Given the description of an element on the screen output the (x, y) to click on. 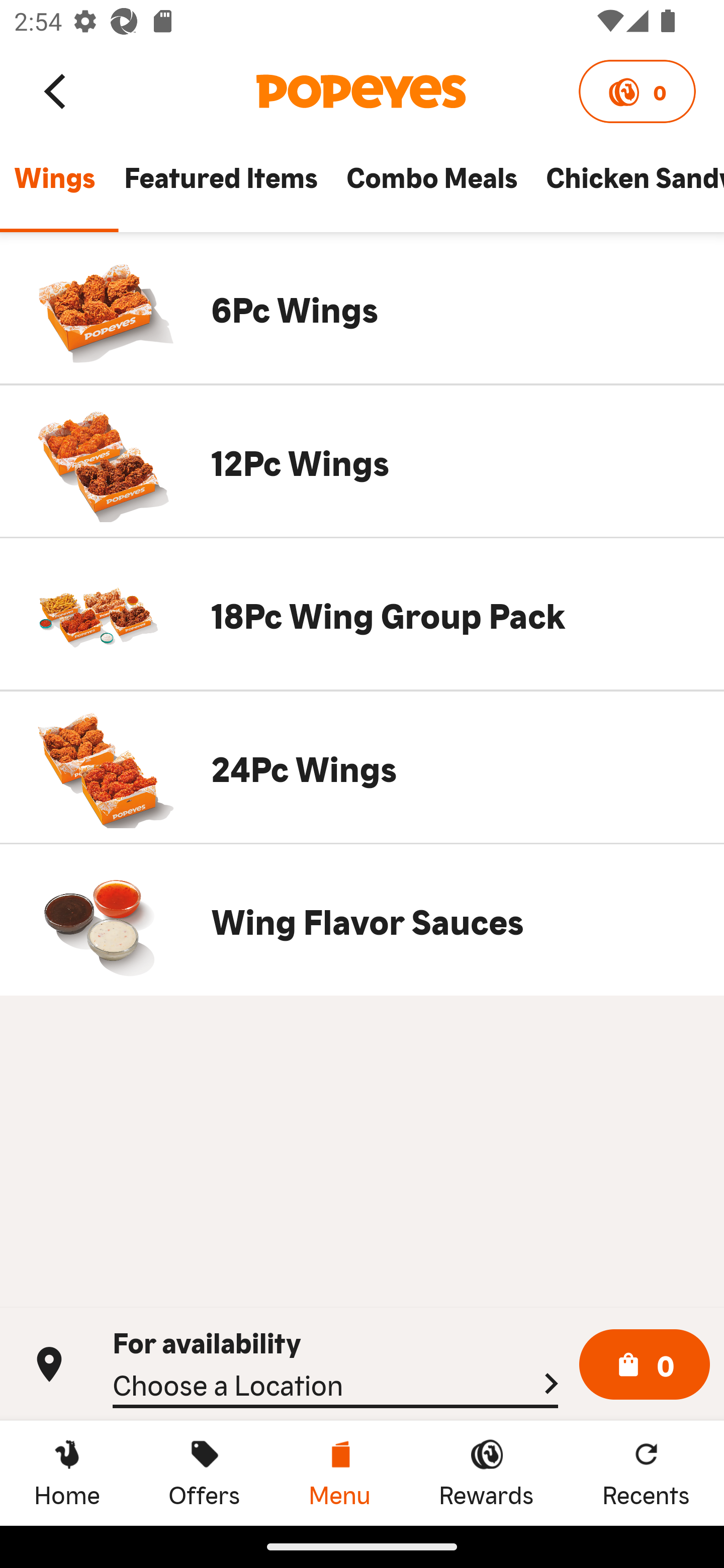
Back (56, 90)
0 Points 0 (636, 91)
Wings (54, 186)
Featured Items (220, 186)
Combo Meals (431, 186)
Chicken Sandwich   (627, 186)
0 Cart total  0 (644, 1364)
Home Home Home (66, 1472)
Offers Offers Offers (203, 1472)
Menu, current page Menu Menu, current page (339, 1472)
Rewards Rewards Rewards (486, 1472)
Recents Recents Recents (646, 1472)
